Given the description of an element on the screen output the (x, y) to click on. 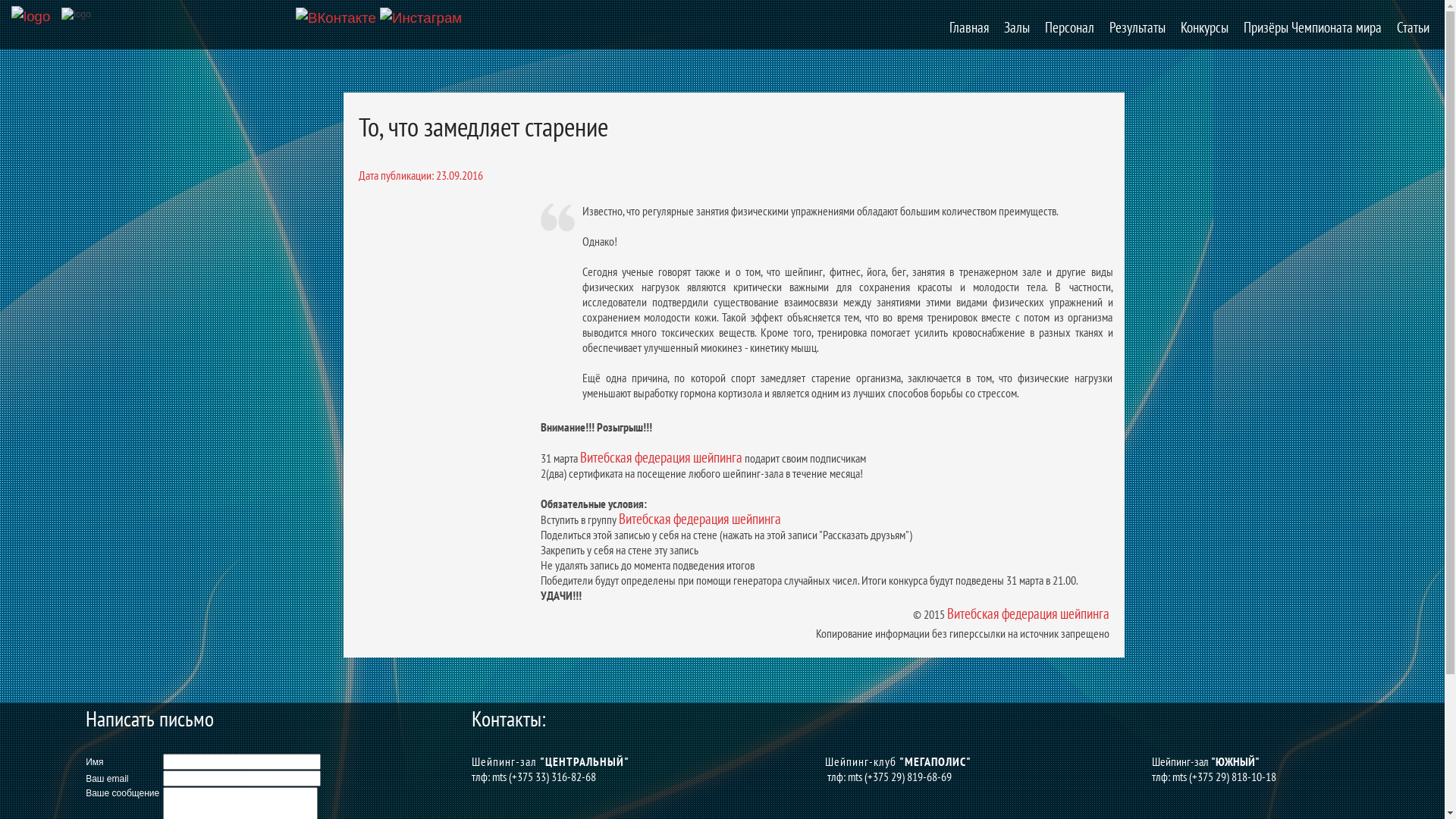
logo Element type: hover (76, 14)
logo Element type: hover (30, 16)
